Given the description of an element on the screen output the (x, y) to click on. 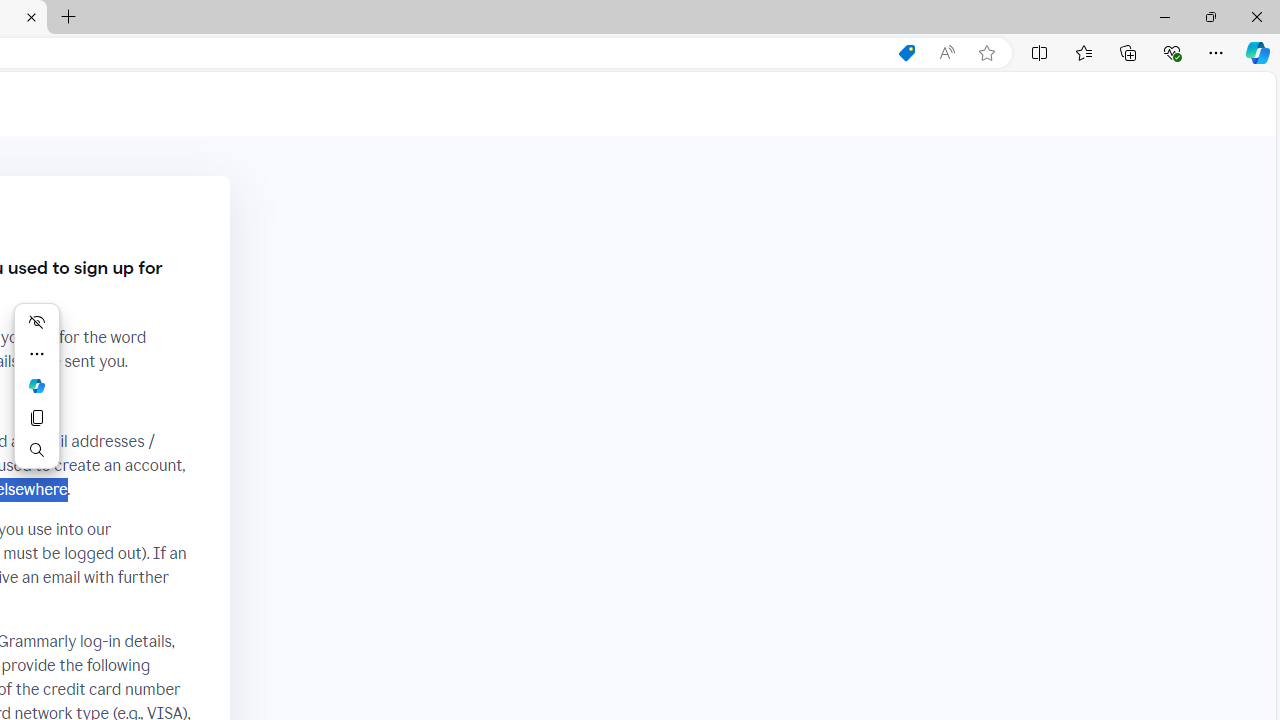
Copy (36, 417)
Mini menu on text selection (36, 385)
Ask Copilot (36, 385)
